Given the description of an element on the screen output the (x, y) to click on. 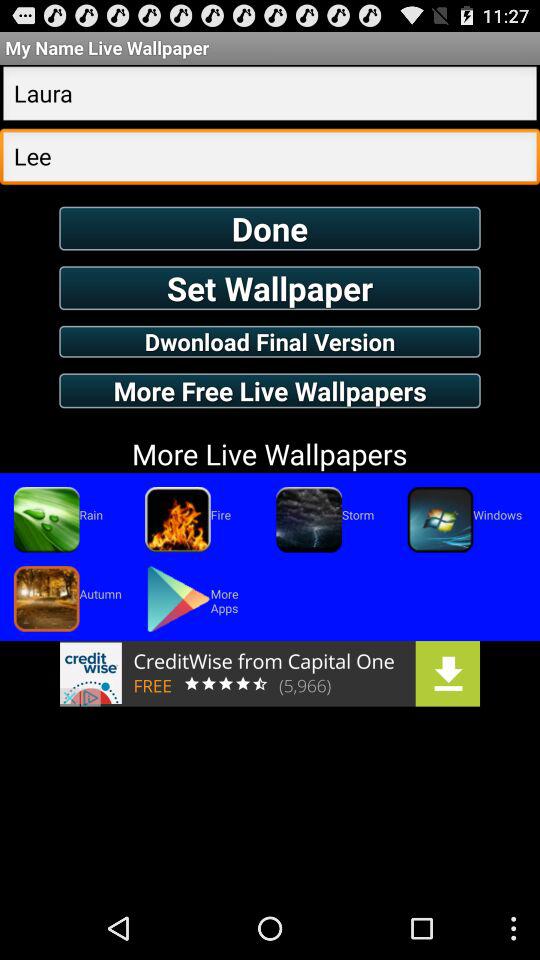
open advertisement (270, 673)
